Given the description of an element on the screen output the (x, y) to click on. 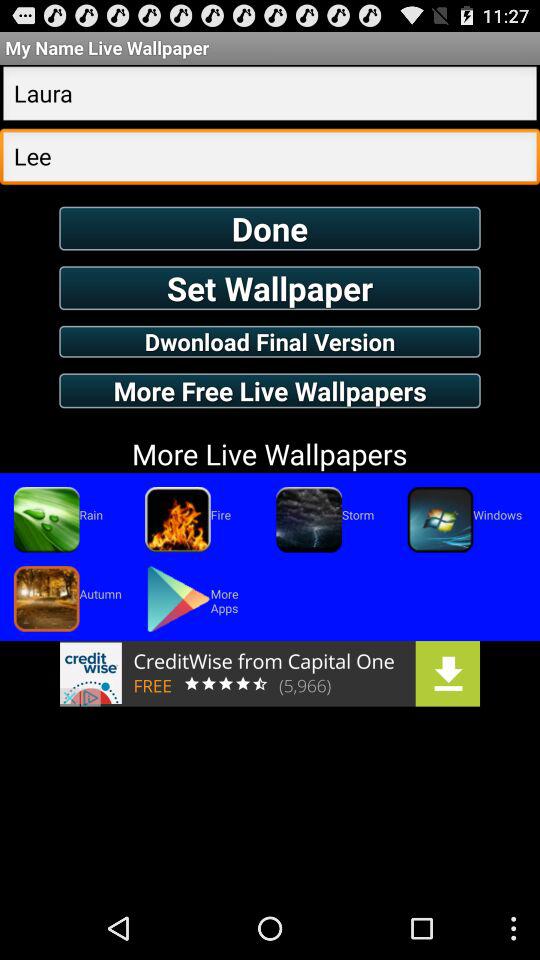
open advertisement (270, 673)
